Given the description of an element on the screen output the (x, y) to click on. 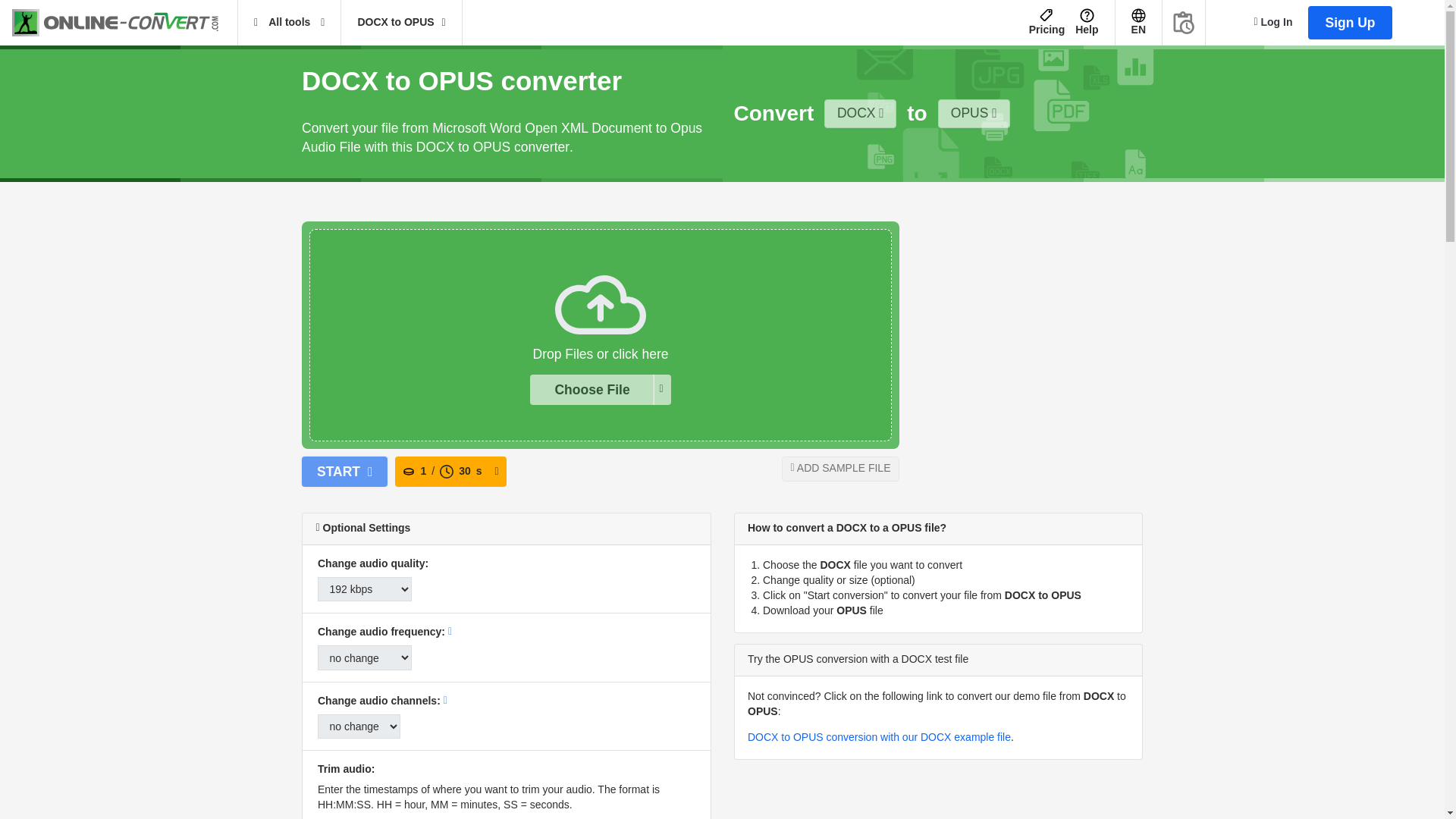
All tools (289, 22)
DOCX to OPUS (400, 22)
Free Online converter tool (124, 22)
